Given the description of an element on the screen output the (x, y) to click on. 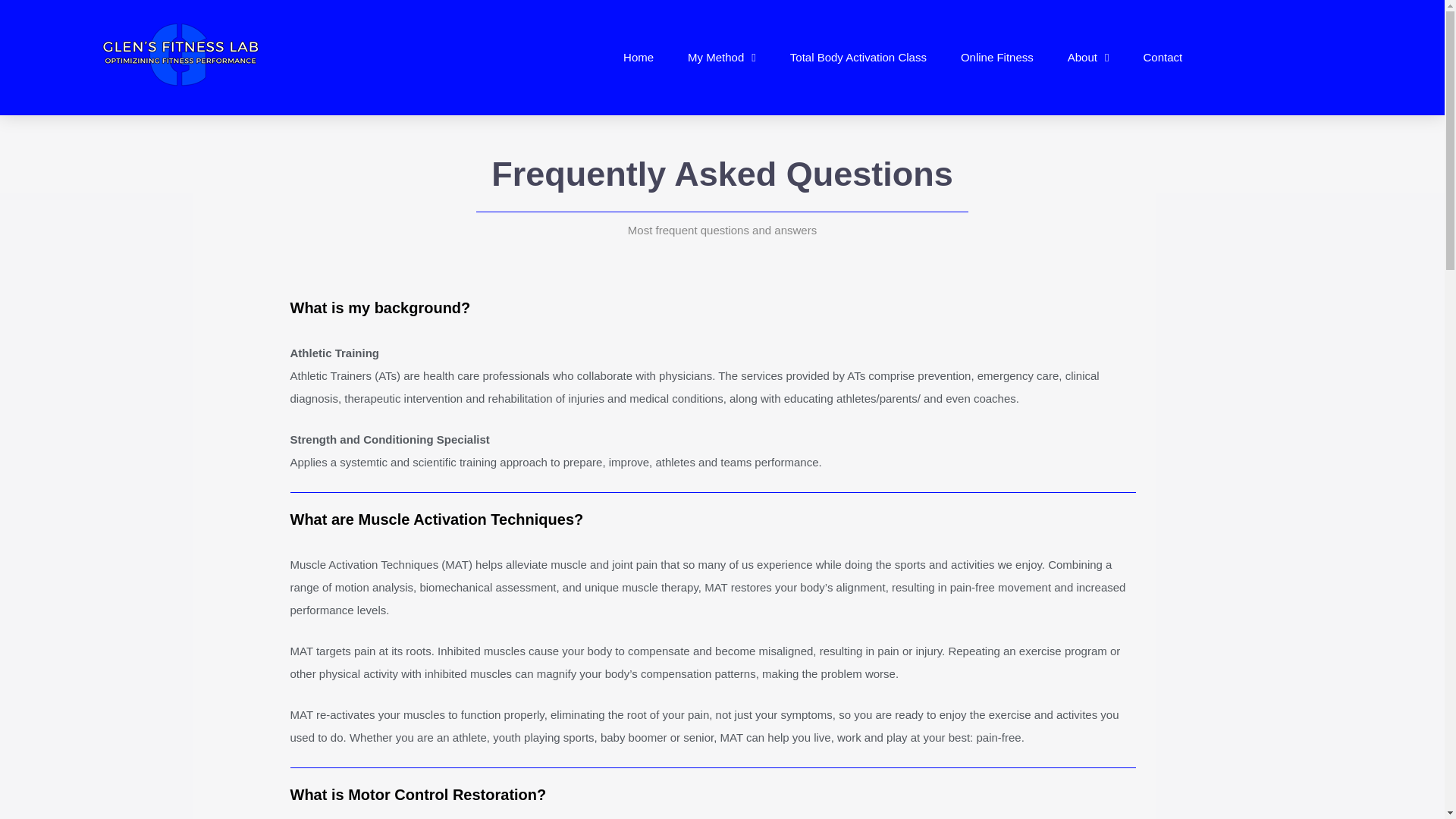
Total Body Activation Class (857, 57)
About (1089, 57)
Online Fitness (997, 57)
Contact (1162, 57)
My Method (722, 57)
Home (638, 57)
